Given the description of an element on the screen output the (x, y) to click on. 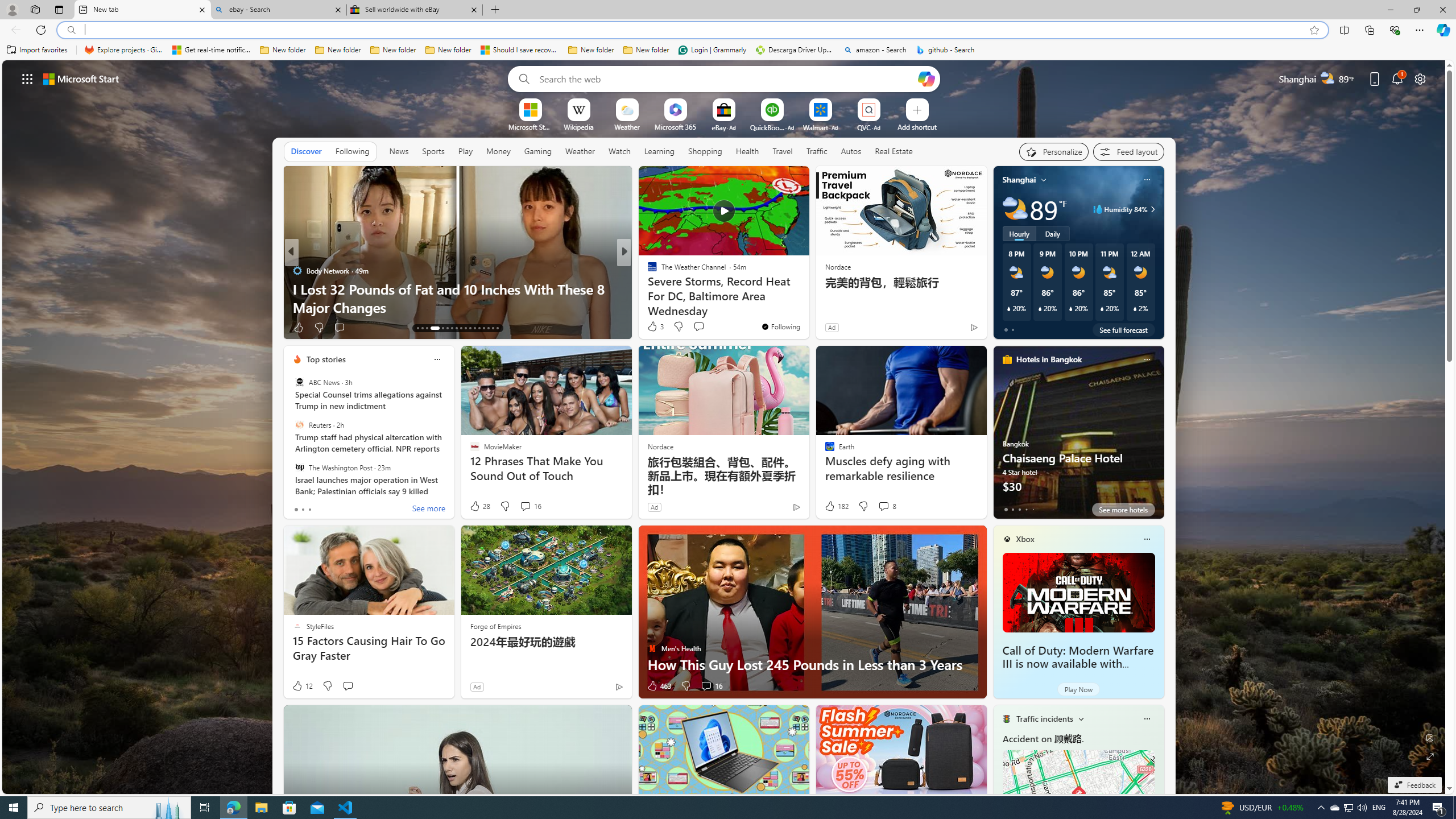
21 Indicators of Early Emotional Abuse That Are Easy to Miss (807, 298)
Shanghai (1018, 179)
See more (428, 509)
12 Like (301, 685)
Shopping (705, 151)
Hourly (1018, 233)
You're following The Weather Channel (780, 326)
View comments 1 Comment (703, 327)
Gaming (537, 151)
